Given the description of an element on the screen output the (x, y) to click on. 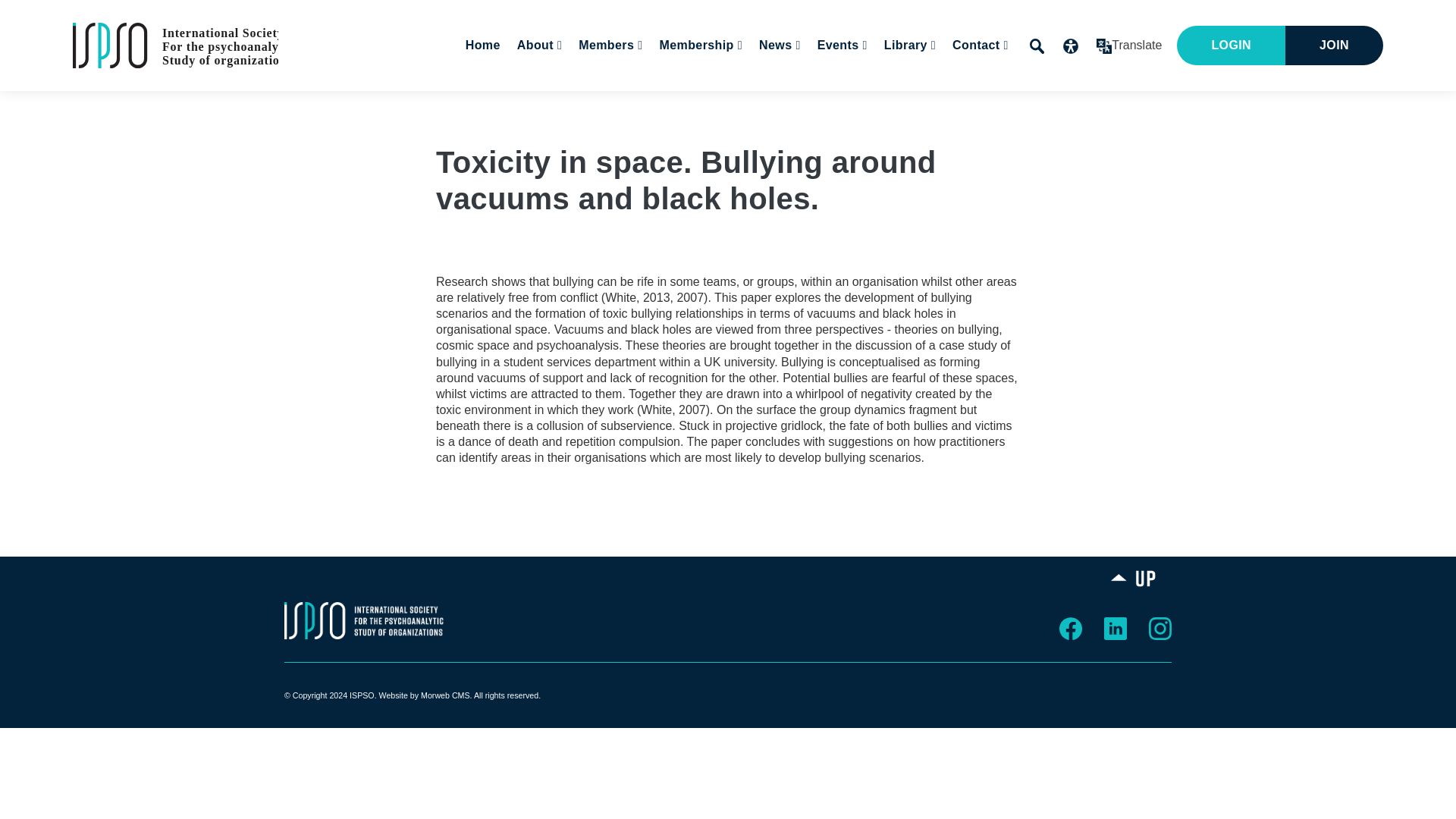
Support Us (1051, 90)
Symposium Archive (944, 90)
Toxicity in space. Bullying around vacuums and black holes. (175, 43)
Membership (698, 45)
Contact (978, 45)
Members Directory (677, 90)
Board Of Directors (634, 90)
Members Space (690, 90)
Anti-Racism Statement (651, 90)
Podcast Series (983, 90)
Statement on the War in Ukraine (657, 90)
ISPSO News (858, 90)
My Account (687, 90)
Contact (1062, 90)
Membership Application (776, 90)
